Given the description of an element on the screen output the (x, y) to click on. 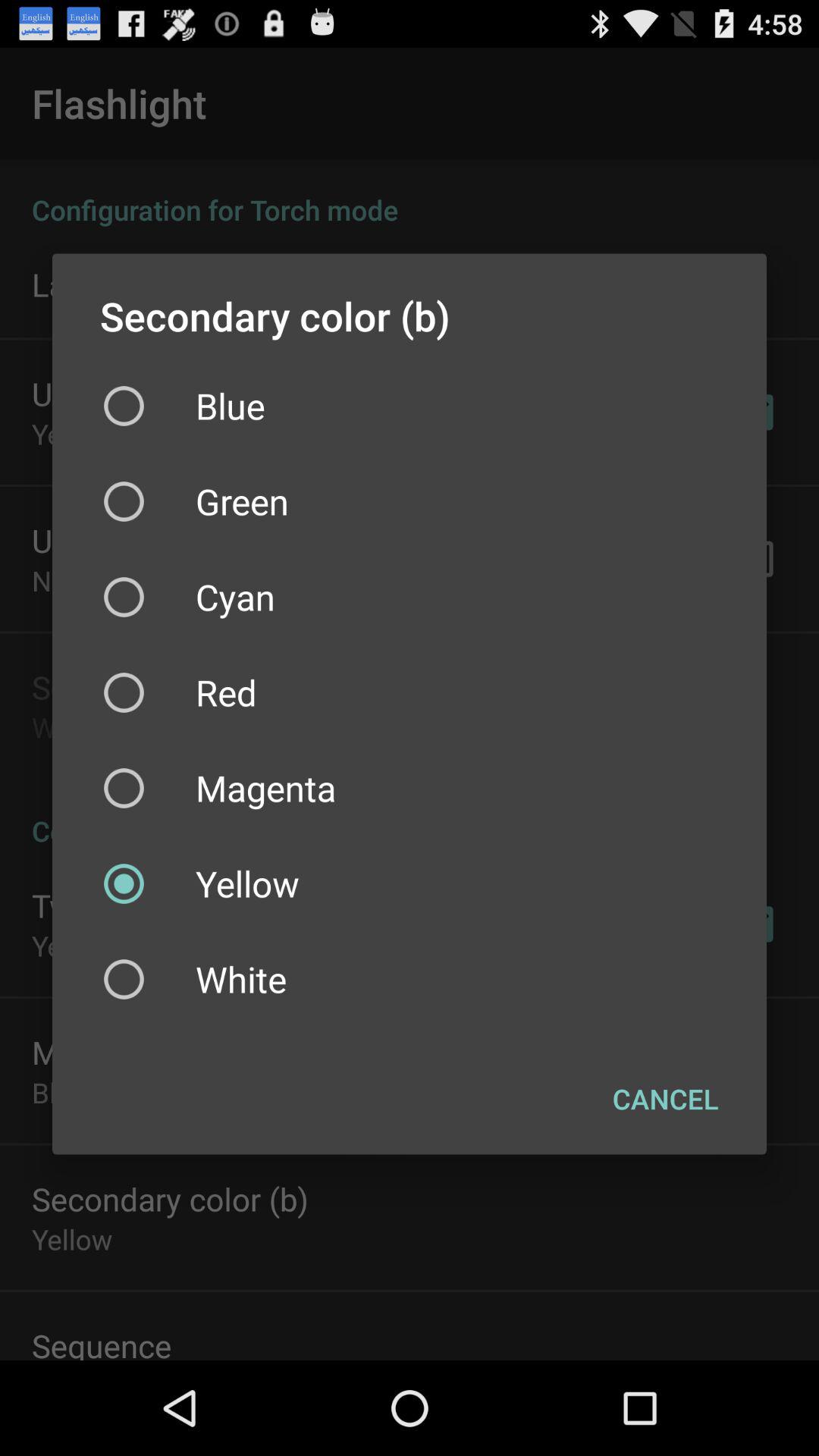
flip to the cancel button (665, 1098)
